Given the description of an element on the screen output the (x, y) to click on. 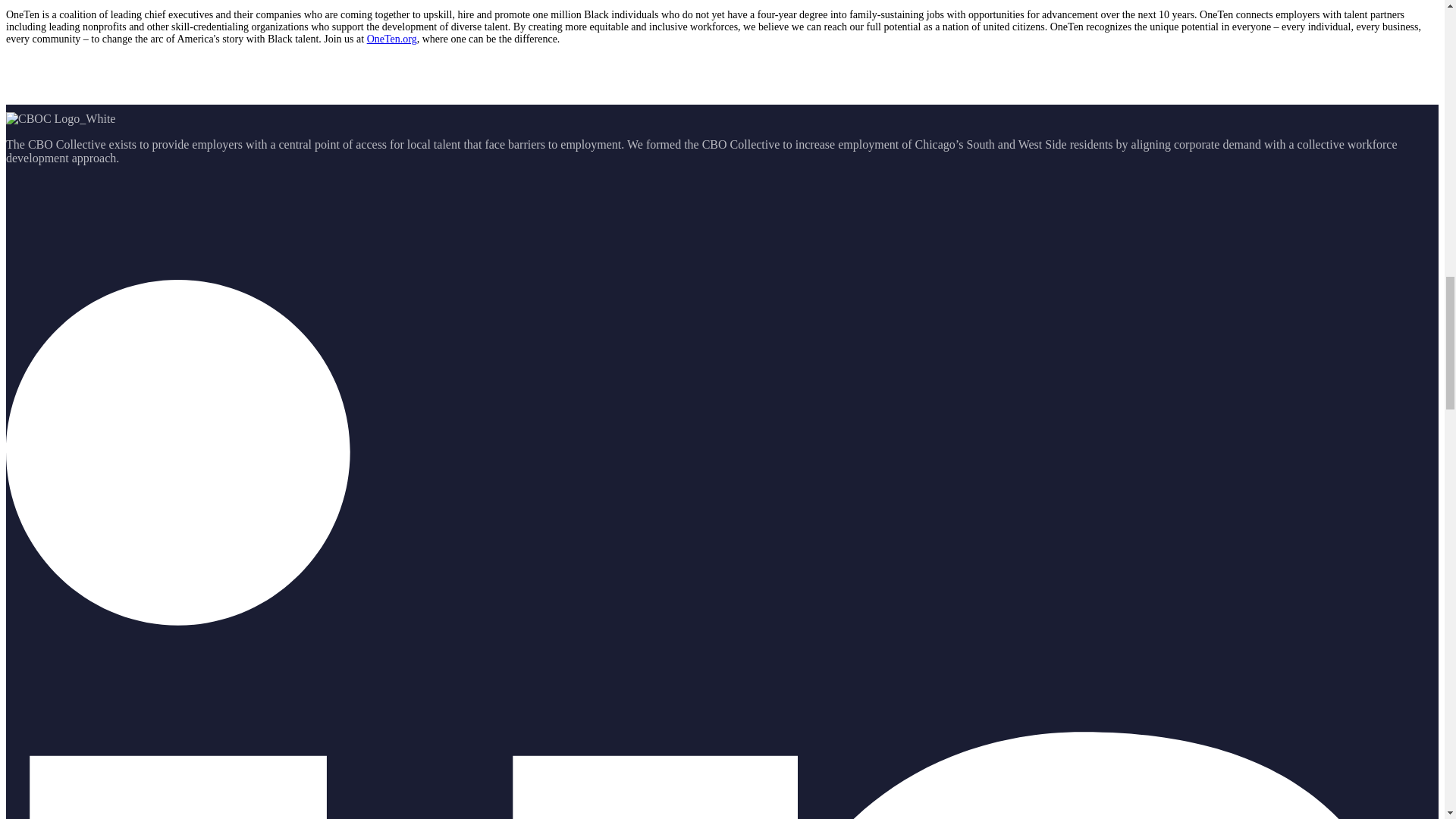
OneTen.org (391, 39)
